Given the description of an element on the screen output the (x, y) to click on. 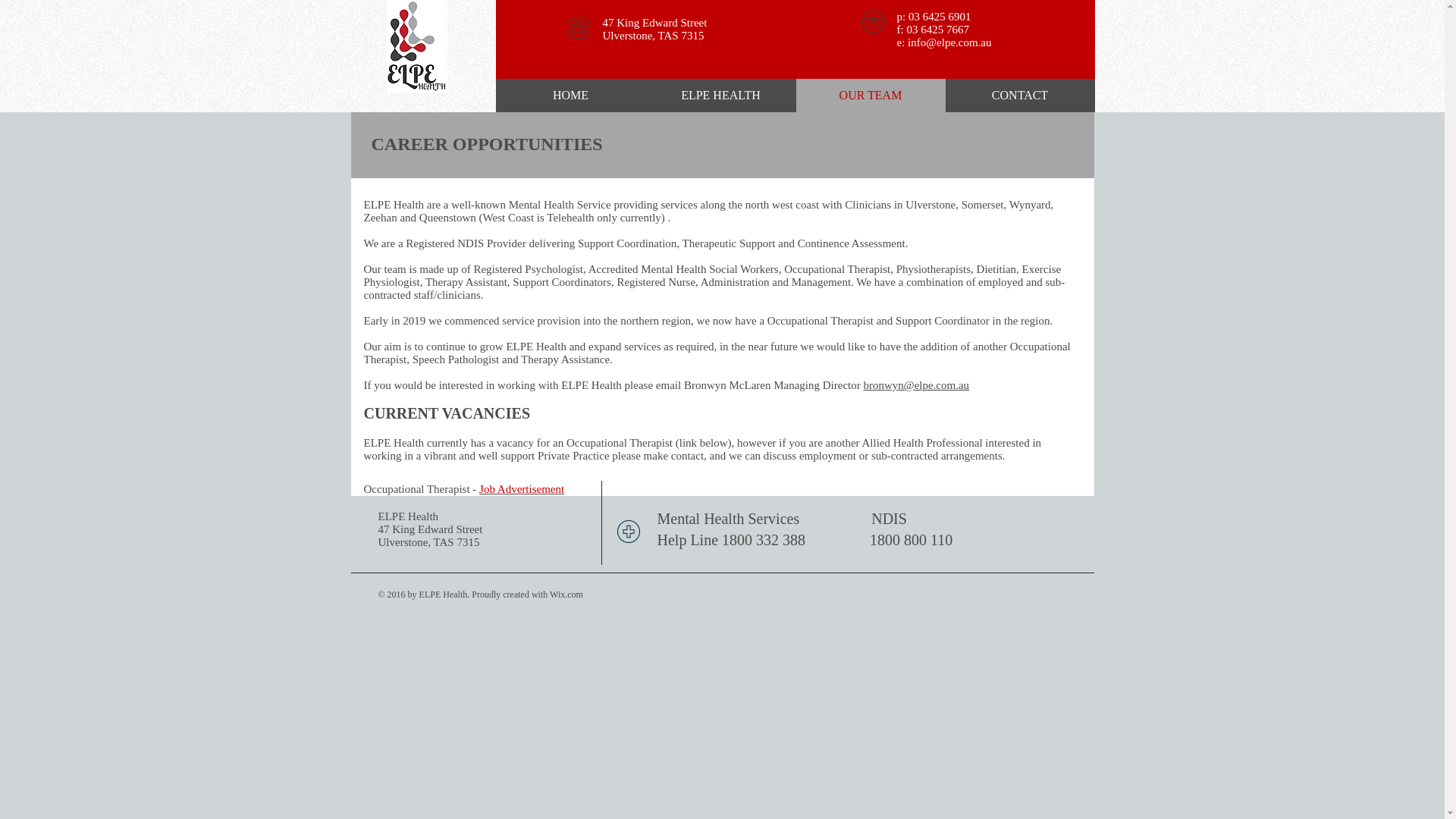
03 6425 6901 Element type: text (939, 16)
CONTACT Element type: text (1019, 95)
HOME Element type: text (570, 95)
bronwyn@elpe.com.au Element type: text (915, 385)
info@elpe.com.au Element type: text (949, 42)
ELPE HEALTH Element type: text (721, 95)
Job Advertisement Element type: text (521, 489)
OUR TEAM Element type: text (870, 95)
Wix.com Element type: text (566, 594)
